Given the description of an element on the screen output the (x, y) to click on. 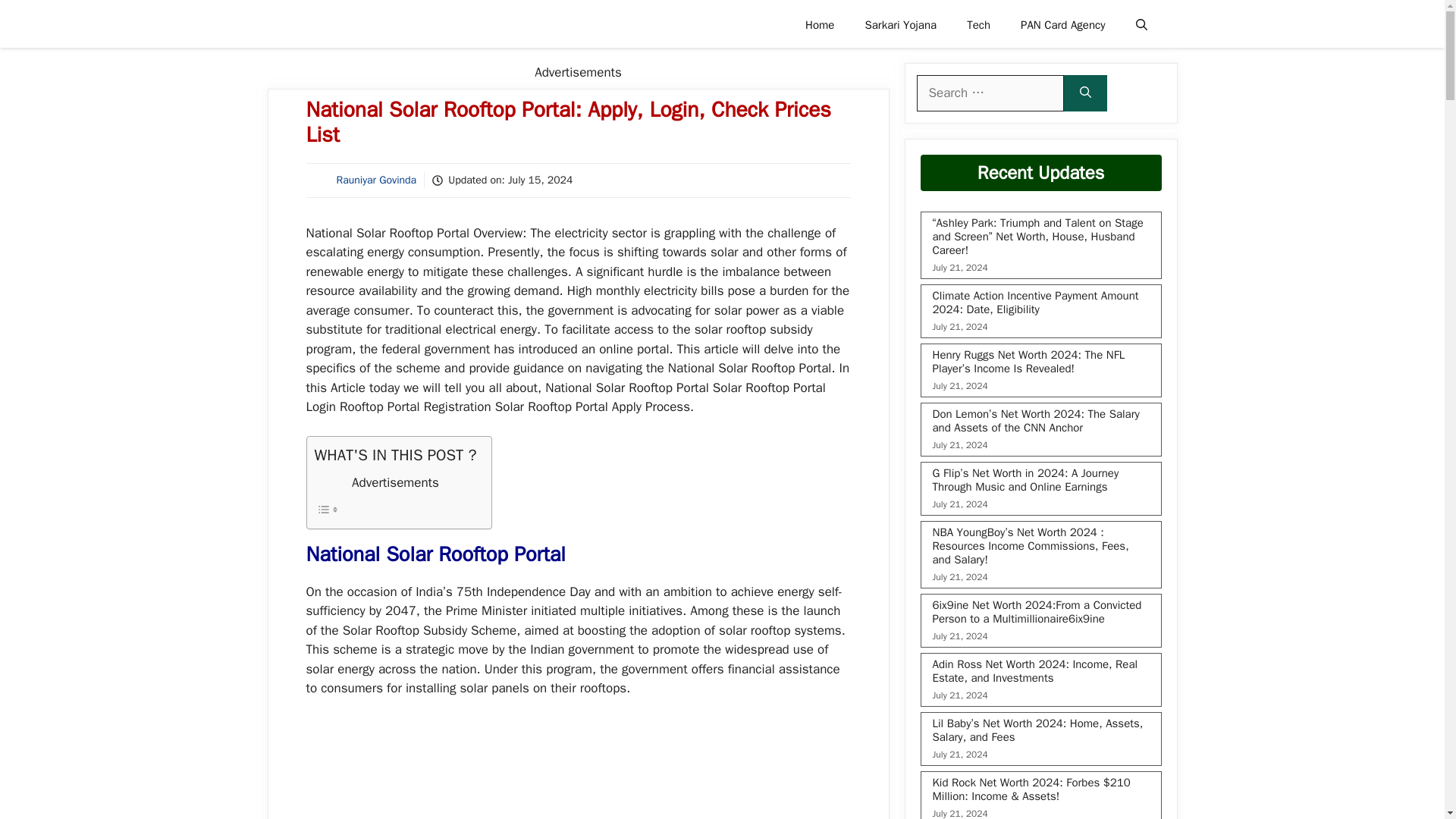
Home (819, 24)
Tech (979, 24)
PAN Card Agency (1062, 24)
Rauniyar Govinda (376, 179)
Sarkari Yojana (900, 24)
